Given the description of an element on the screen output the (x, y) to click on. 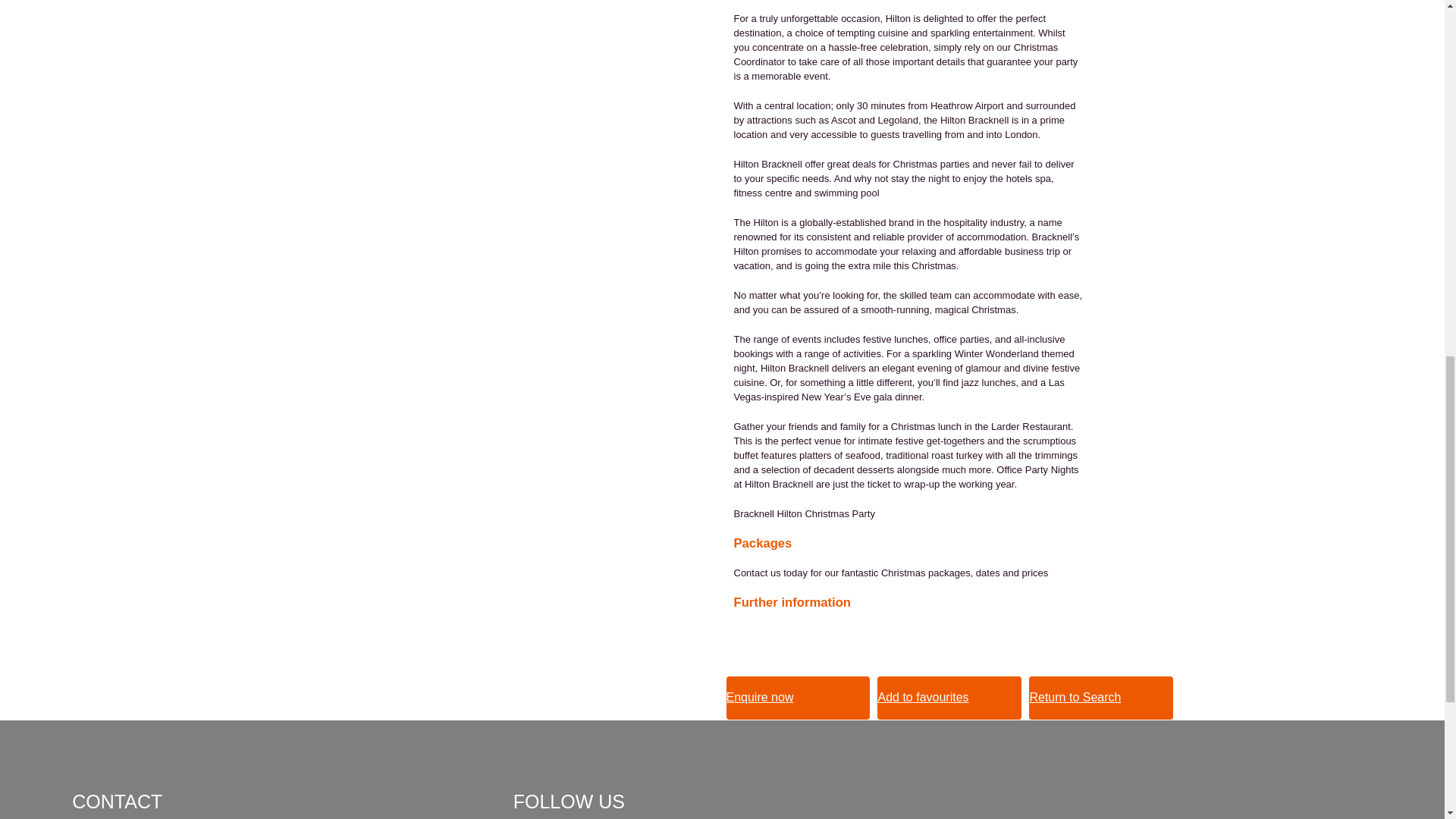
Return to Search (1101, 698)
Add to favourites (949, 698)
Enquire now (798, 698)
